Given the description of an element on the screen output the (x, y) to click on. 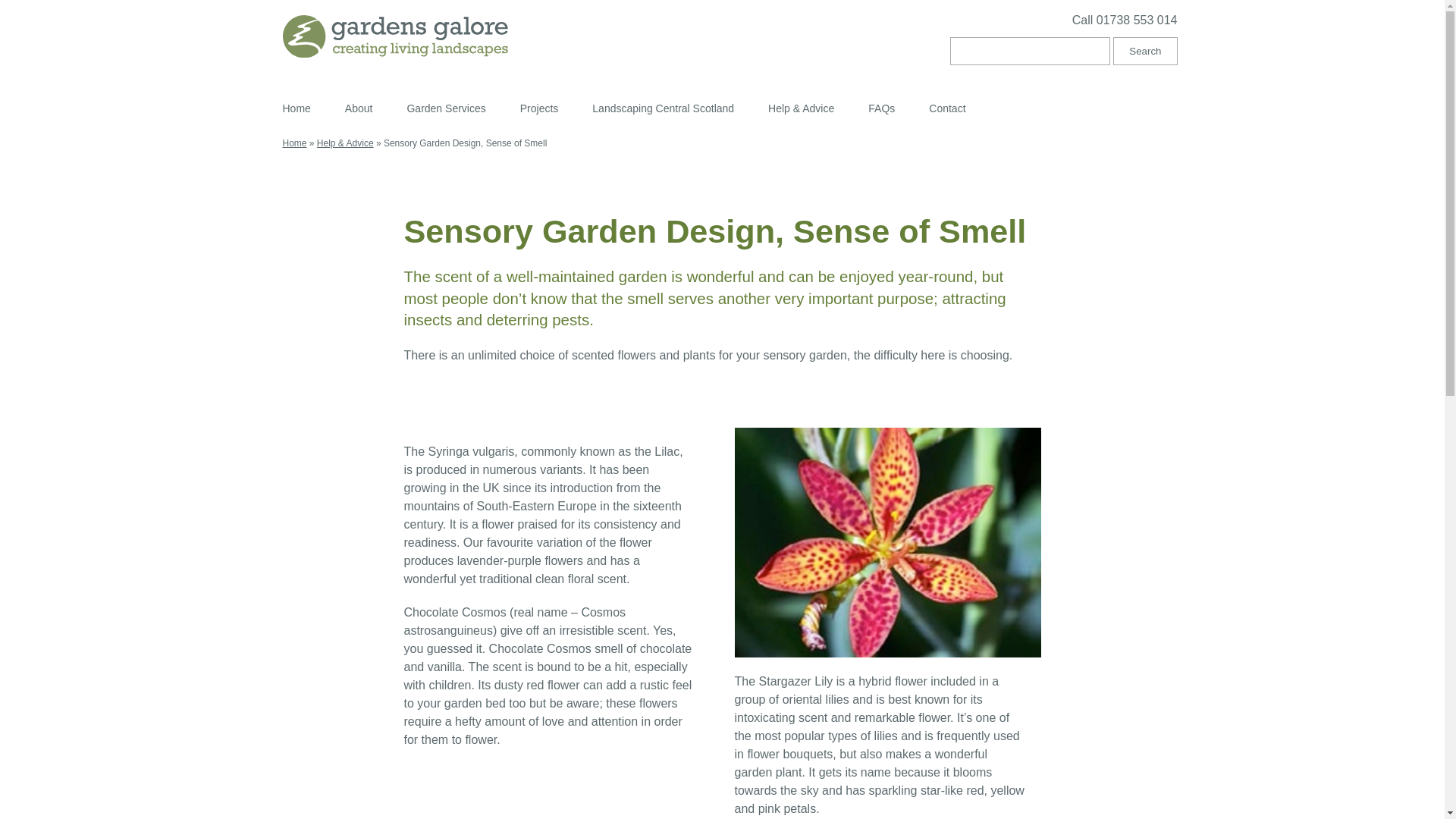
Garden Services (445, 108)
Home (295, 108)
Search (1144, 50)
Call us on 01738 553 014 (952, 23)
Landscaping Central Scotland (662, 108)
Search (1144, 50)
Call 01738 553 014 (952, 23)
Search (1144, 50)
About (359, 108)
Projects (539, 108)
